Given the description of an element on the screen output the (x, y) to click on. 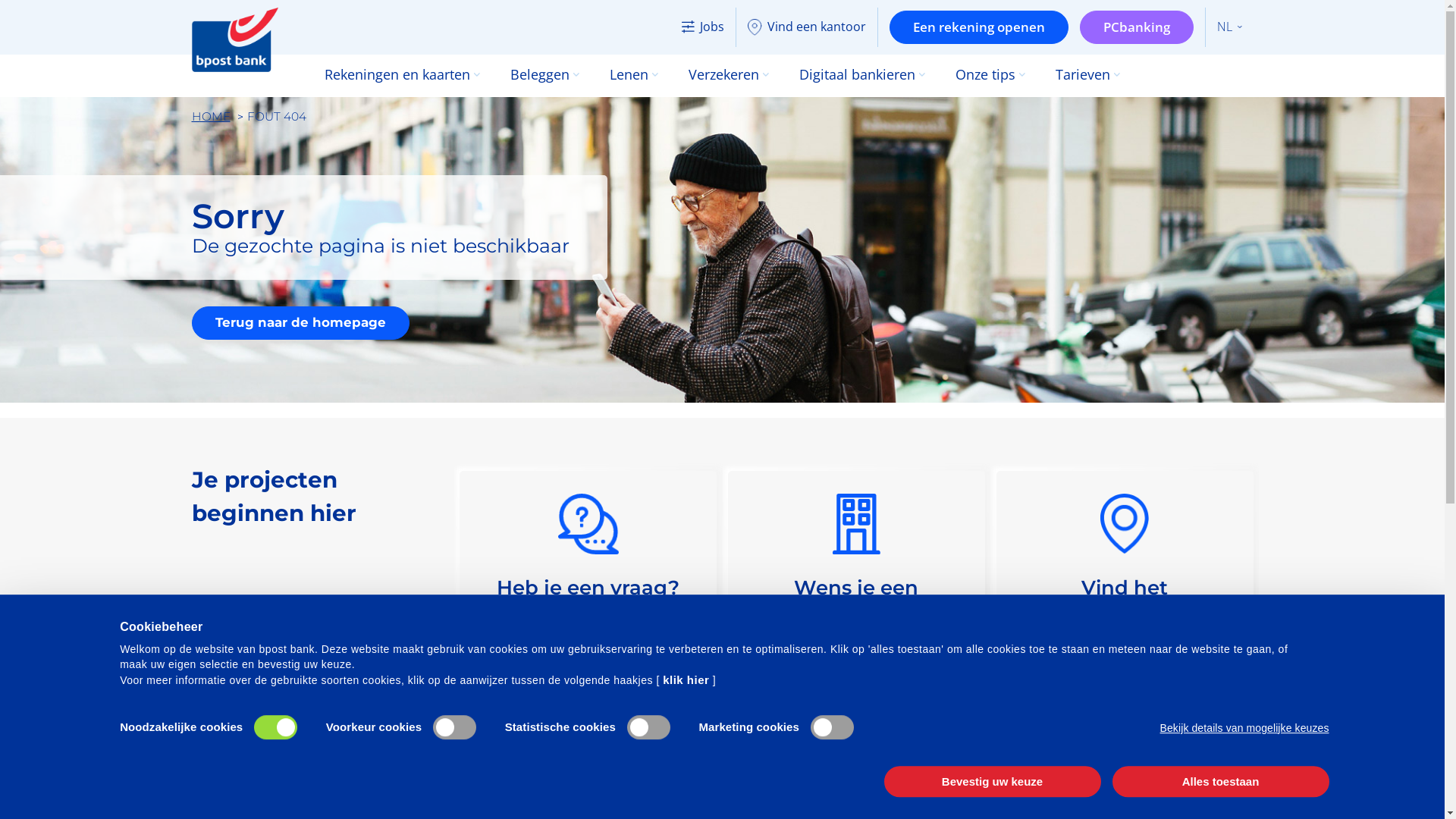
FOUT 404 Element type: text (276, 116)
Bekijk details van mogelijke keuzes Element type: text (1244, 727)
Jobs Element type: text (702, 26)
HOME Element type: text (210, 116)
Een rekening openen Element type: text (977, 26)
Stel je vraag Element type: text (588, 753)
Alles toestaan Element type: text (1219, 781)
Vind een kantoor Element type: text (806, 26)
Terug naar de homepage Element type: text (299, 322)
PCbanking Element type: text (1136, 26)
NL Element type: text (1228, 26)
klik hier Element type: text (685, 679)
Vind je kantoor Element type: text (1124, 753)
Bevestig uw keuze Element type: text (992, 781)
Maak een afspraak Element type: text (856, 753)
